Given the description of an element on the screen output the (x, y) to click on. 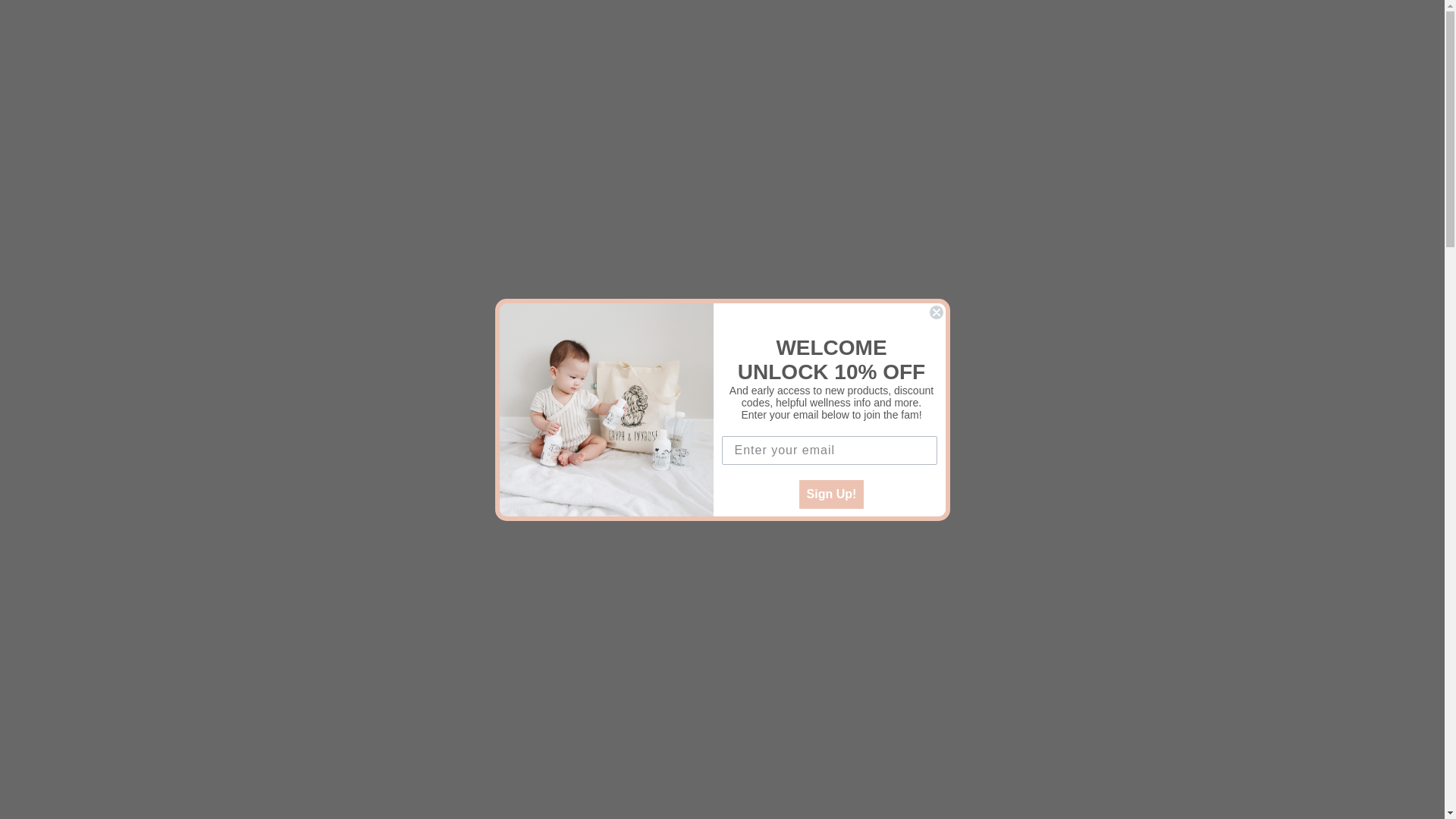
ABOUT (122, 58)
SHOP (55, 58)
